Given the description of an element on the screen output the (x, y) to click on. 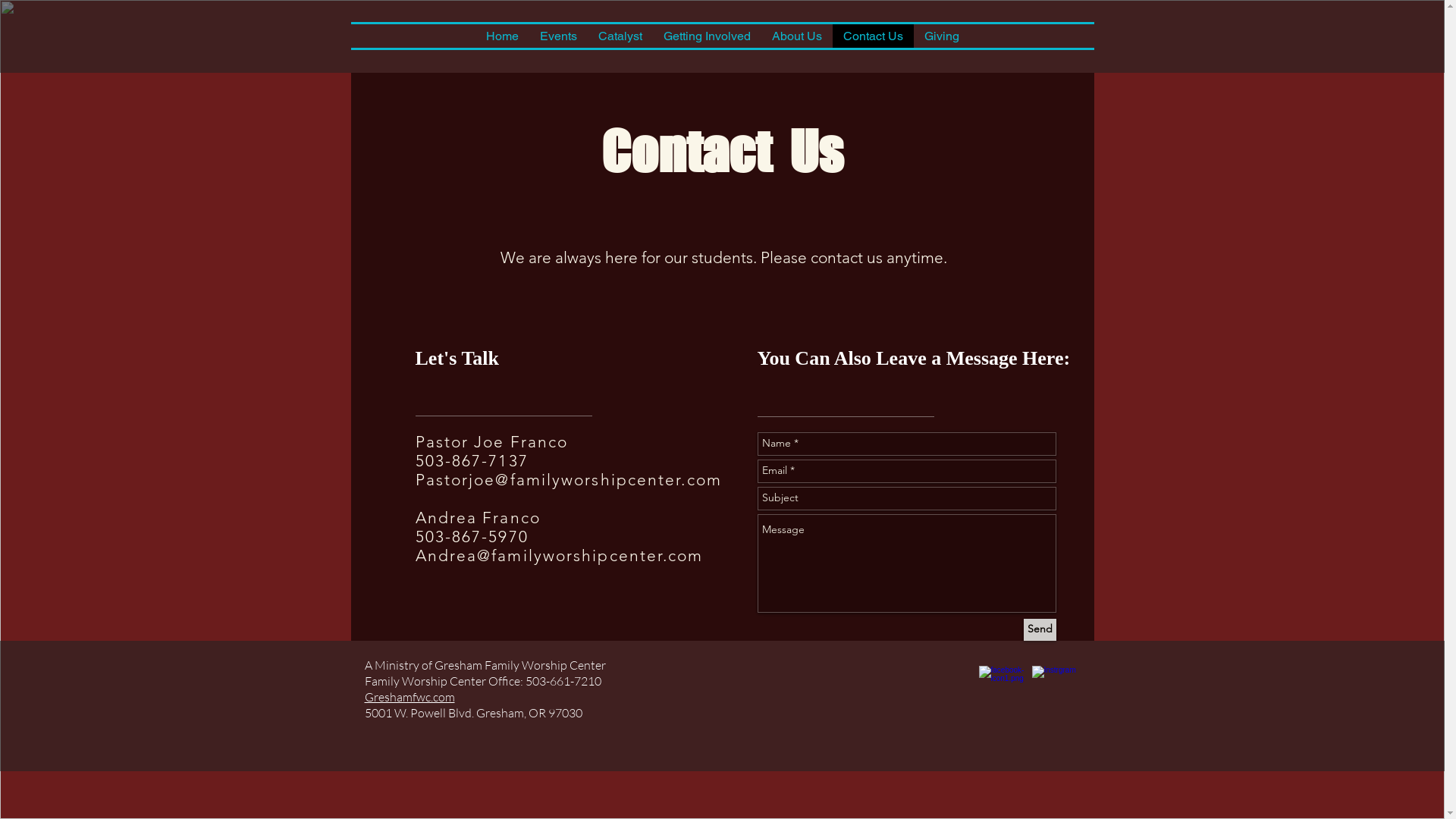
Greshamfwc.com Element type: text (409, 695)
Contact Us Element type: text (872, 35)
About Us Element type: text (796, 35)
Send Element type: text (1039, 629)
Home Element type: text (501, 35)
Catalyst Element type: text (619, 35)
Getting Involved Element type: text (706, 35)
Events Element type: text (558, 35)
Giving Element type: text (941, 35)
